Given the description of an element on the screen output the (x, y) to click on. 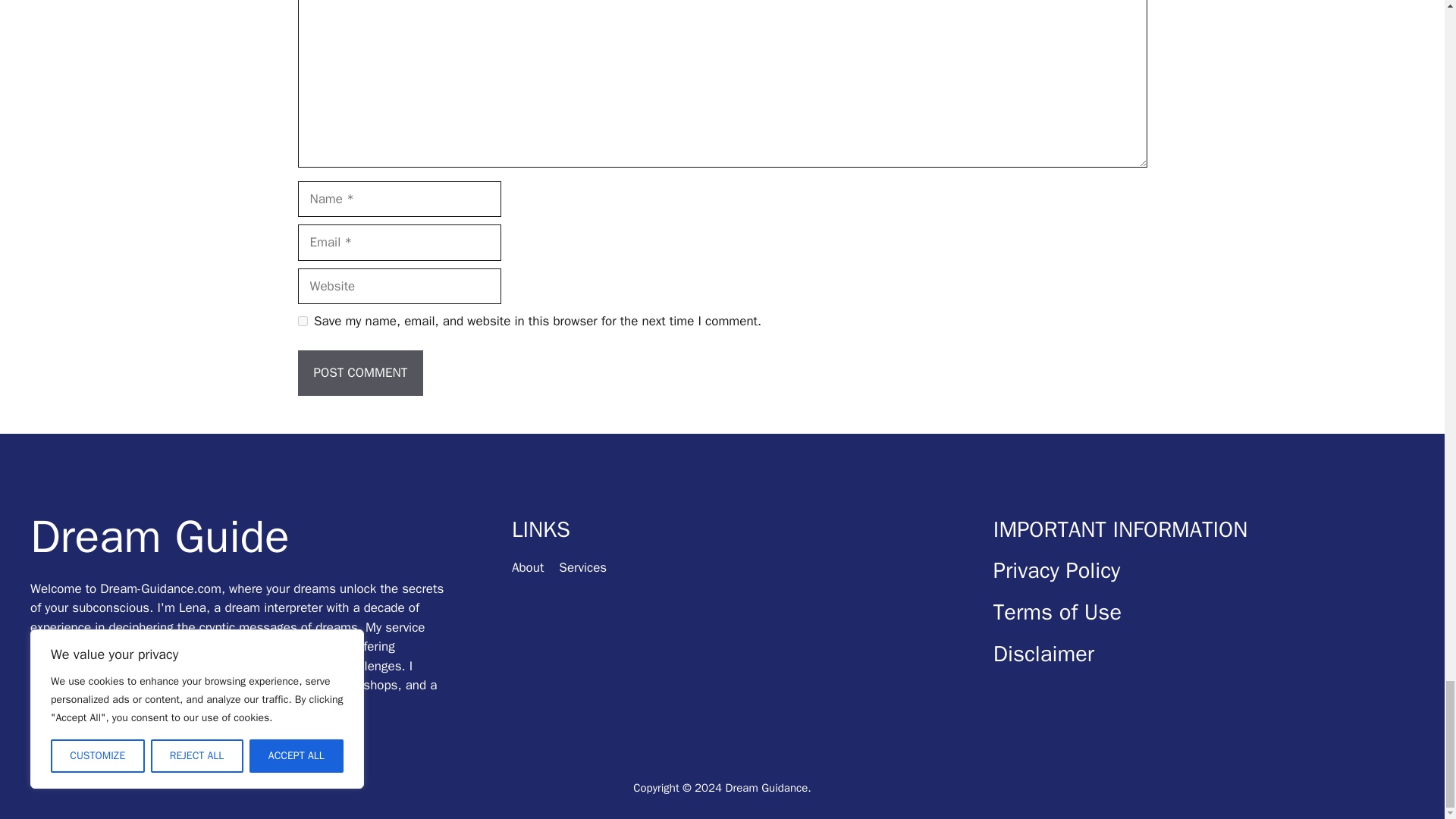
Post Comment (360, 372)
yes (302, 320)
